Given the description of an element on the screen output the (x, y) to click on. 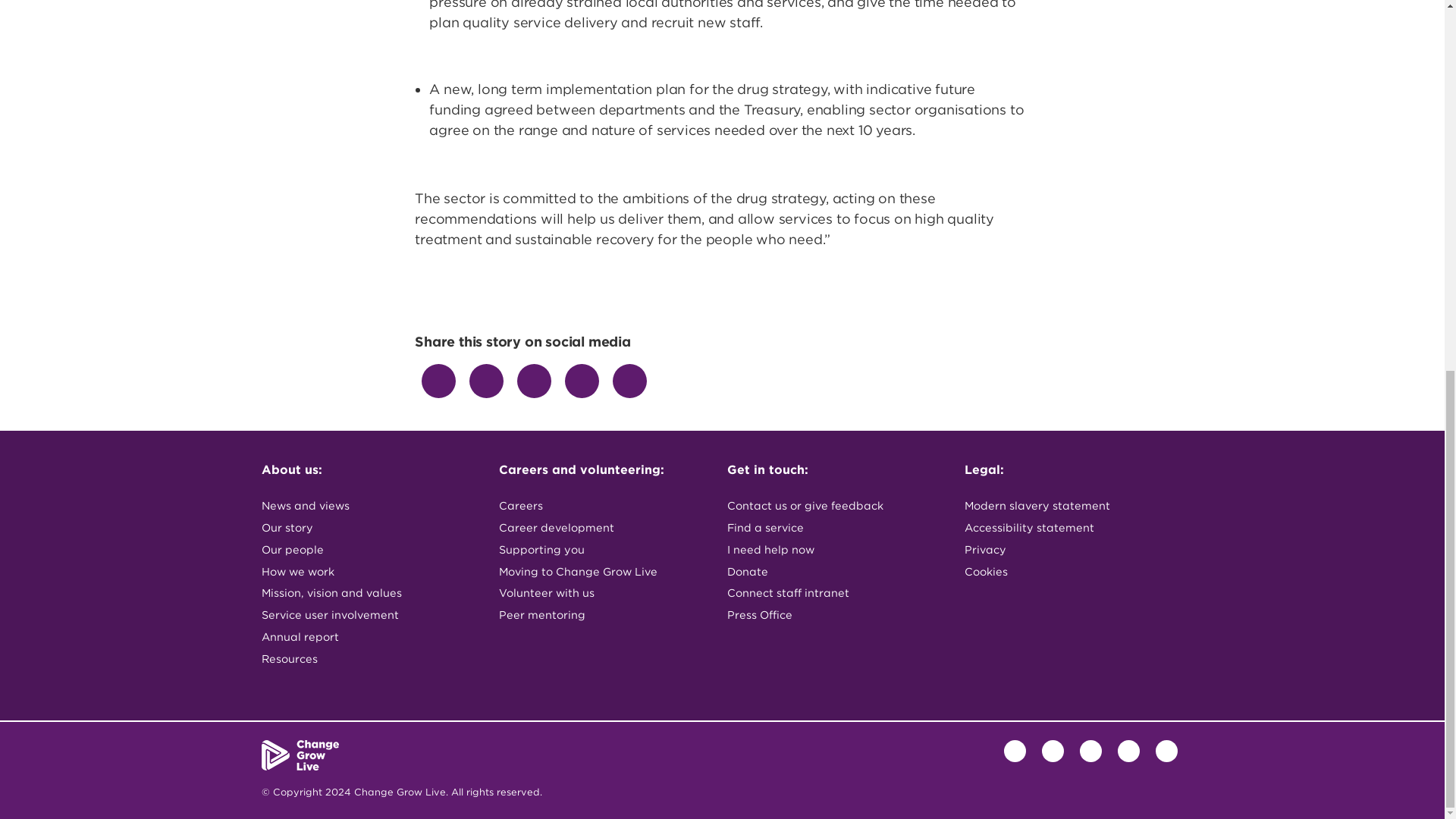
Annual report (366, 639)
Moving to Change Grow Live (605, 574)
EMAIL (582, 380)
Our story (366, 530)
Service user involvement (366, 617)
Resources (366, 661)
Career development (605, 530)
FACEBOOK (438, 380)
News and views (366, 508)
Volunteer with us (605, 595)
